Given the description of an element on the screen output the (x, y) to click on. 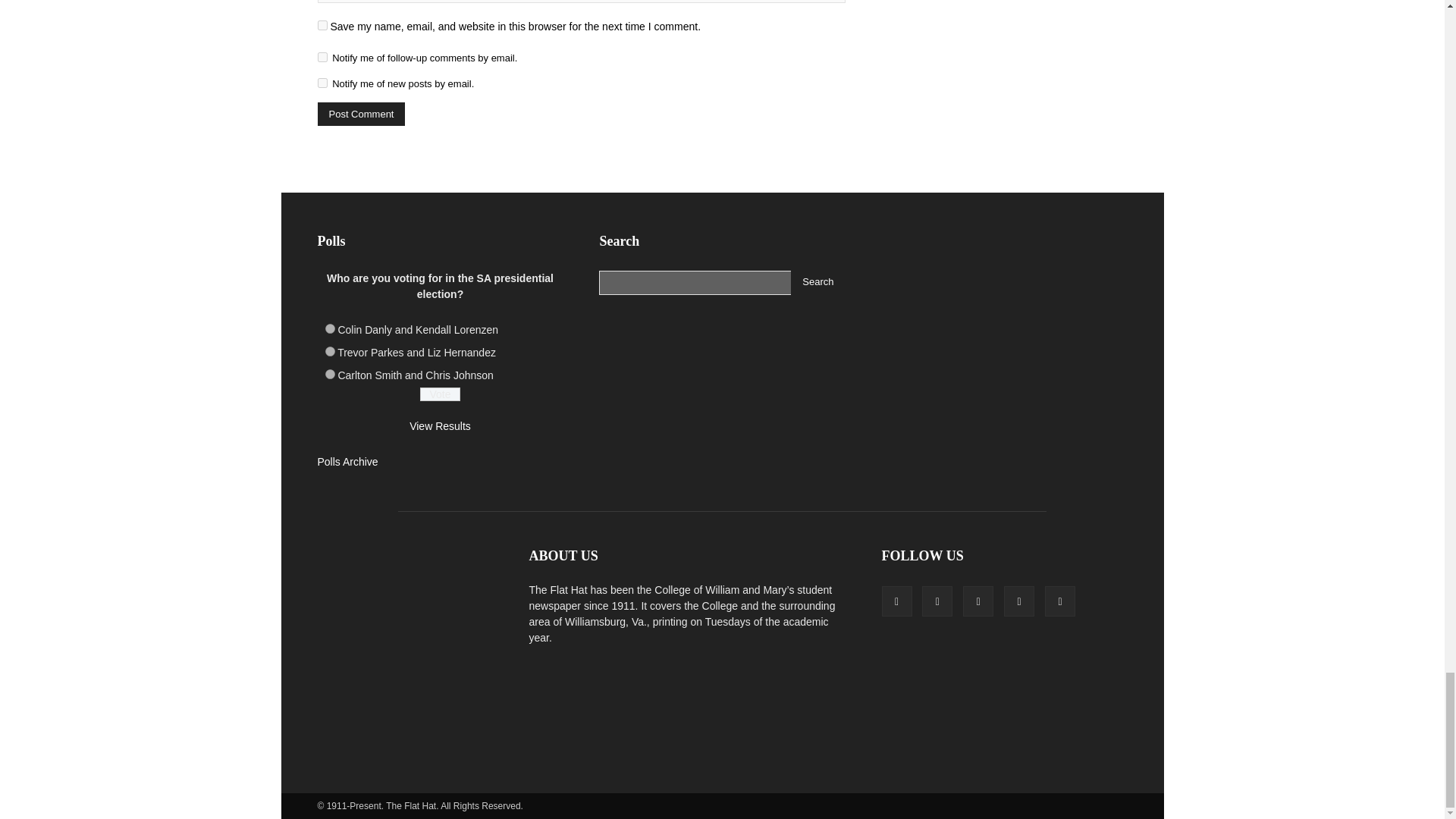
yes (321, 25)
   Vote    (440, 394)
104 (329, 328)
subscribe (321, 82)
106 (329, 374)
Search (817, 282)
Post Comment (360, 114)
subscribe (321, 57)
105 (329, 351)
